Given the description of an element on the screen output the (x, y) to click on. 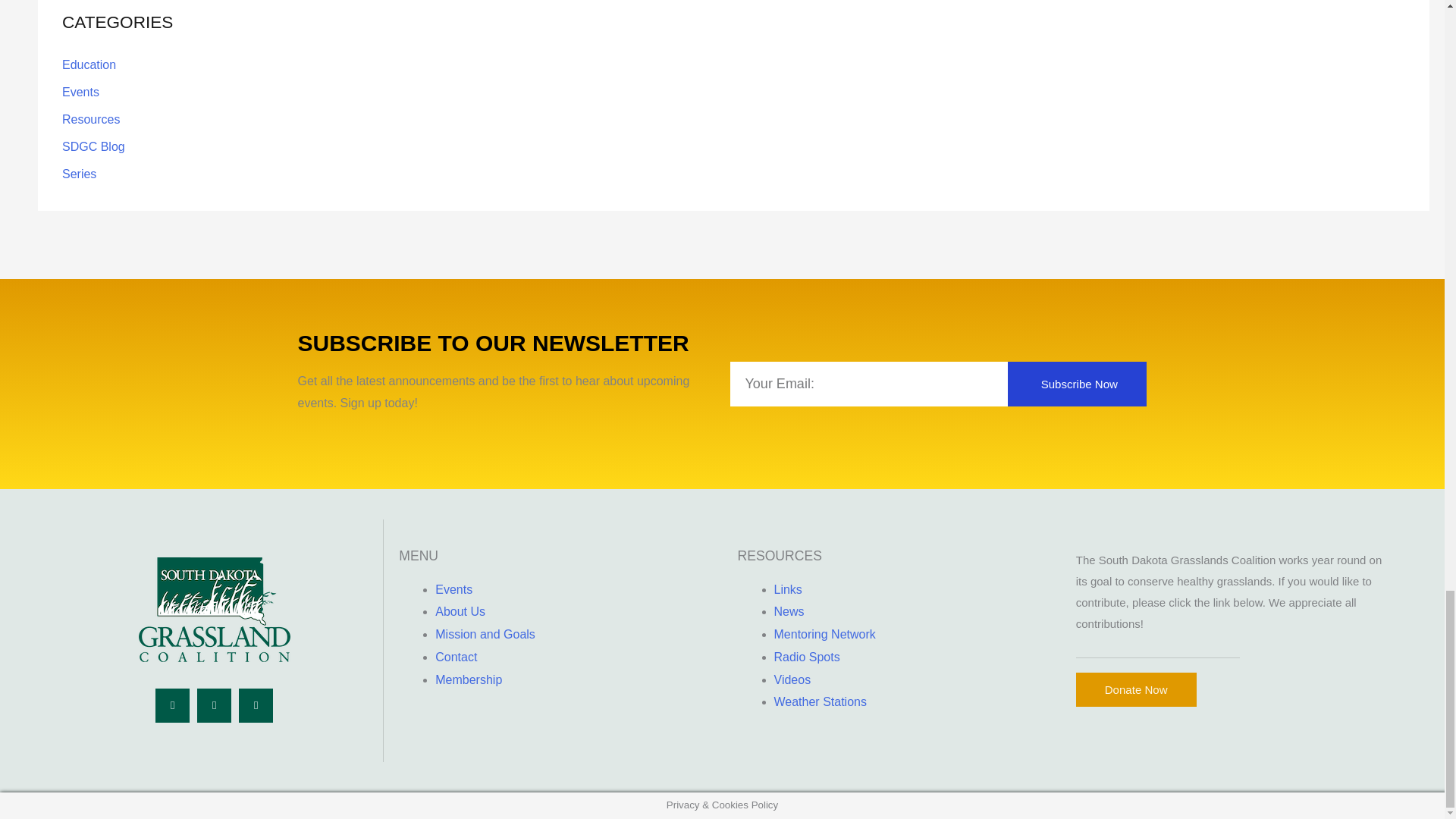
SDGC Blog (93, 146)
Resources (90, 119)
Subscribe Now (1077, 383)
Education (89, 64)
Events (80, 91)
Series (79, 173)
